Given the description of an element on the screen output the (x, y) to click on. 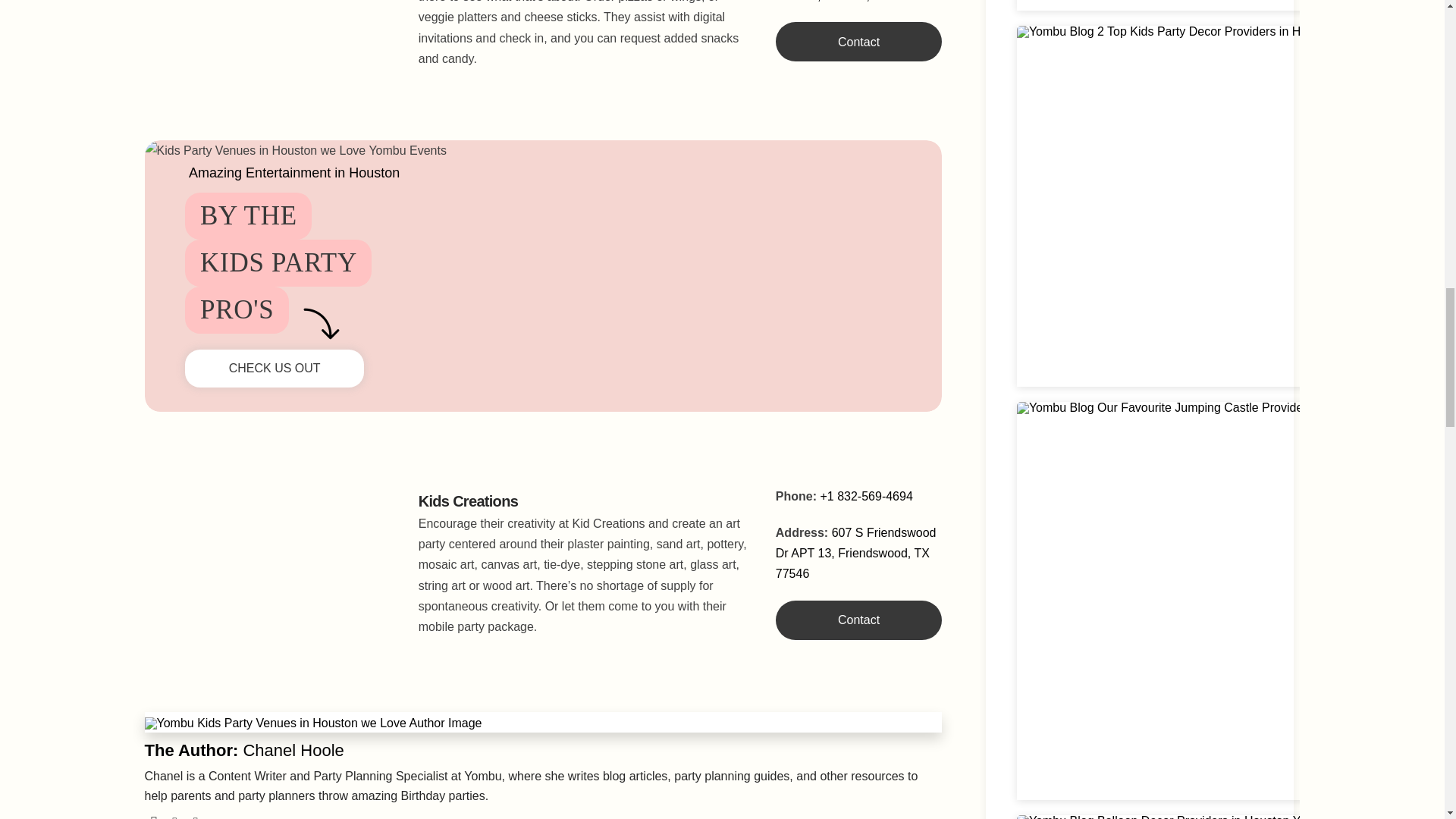
Contact (859, 620)
Contact (859, 42)
CHECK US OUT (274, 368)
607 S Friendswood Dr APT 13, Friendswood, TX 77546 (856, 552)
1325 Fountain Lake Dr, Stafford, TX 77477 (851, 1)
